Given the description of an element on the screen output the (x, y) to click on. 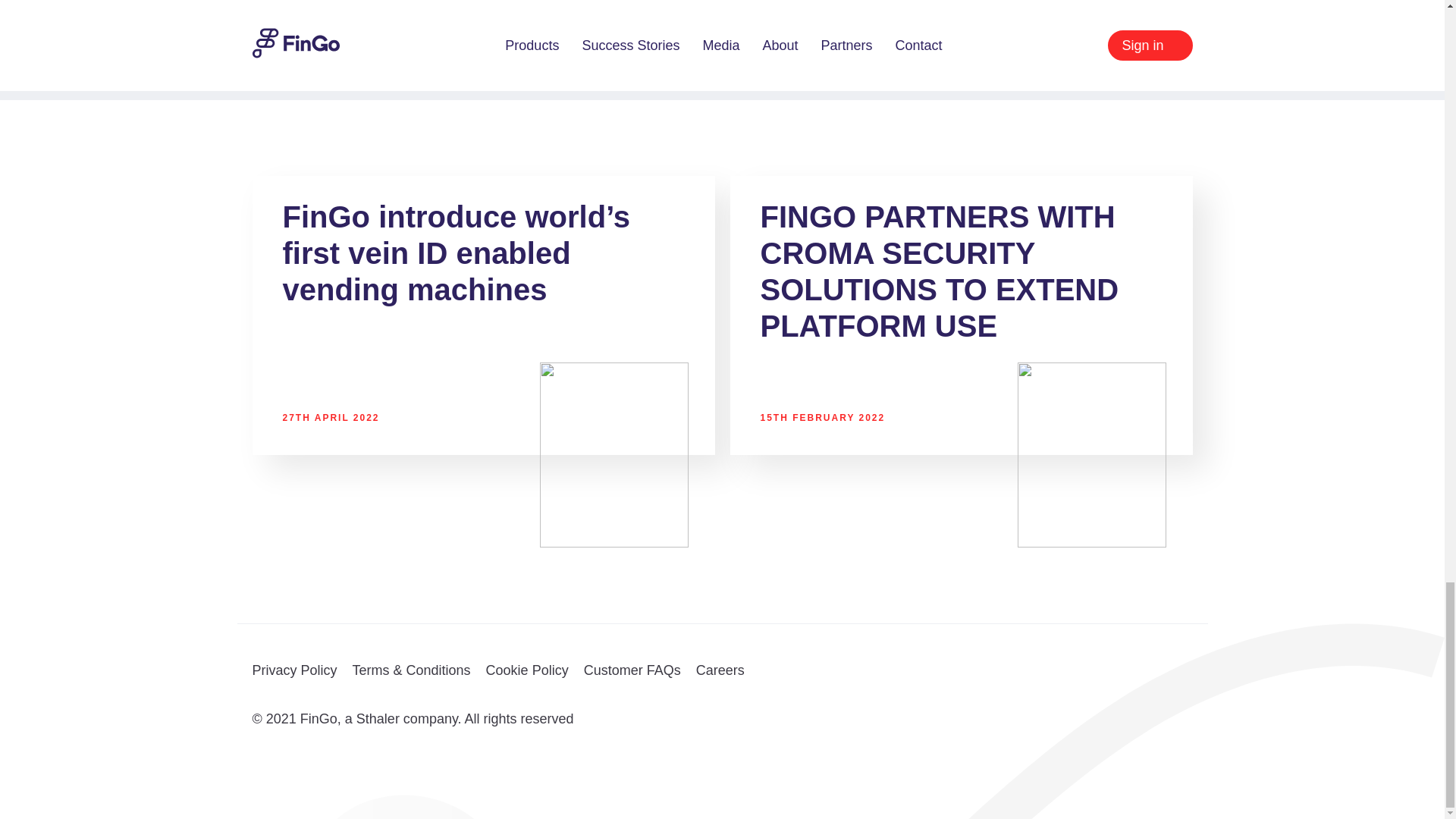
Privacy Policy (293, 670)
Cookie Policy (527, 670)
Customer FAQs (632, 670)
Careers (719, 670)
